Given the description of an element on the screen output the (x, y) to click on. 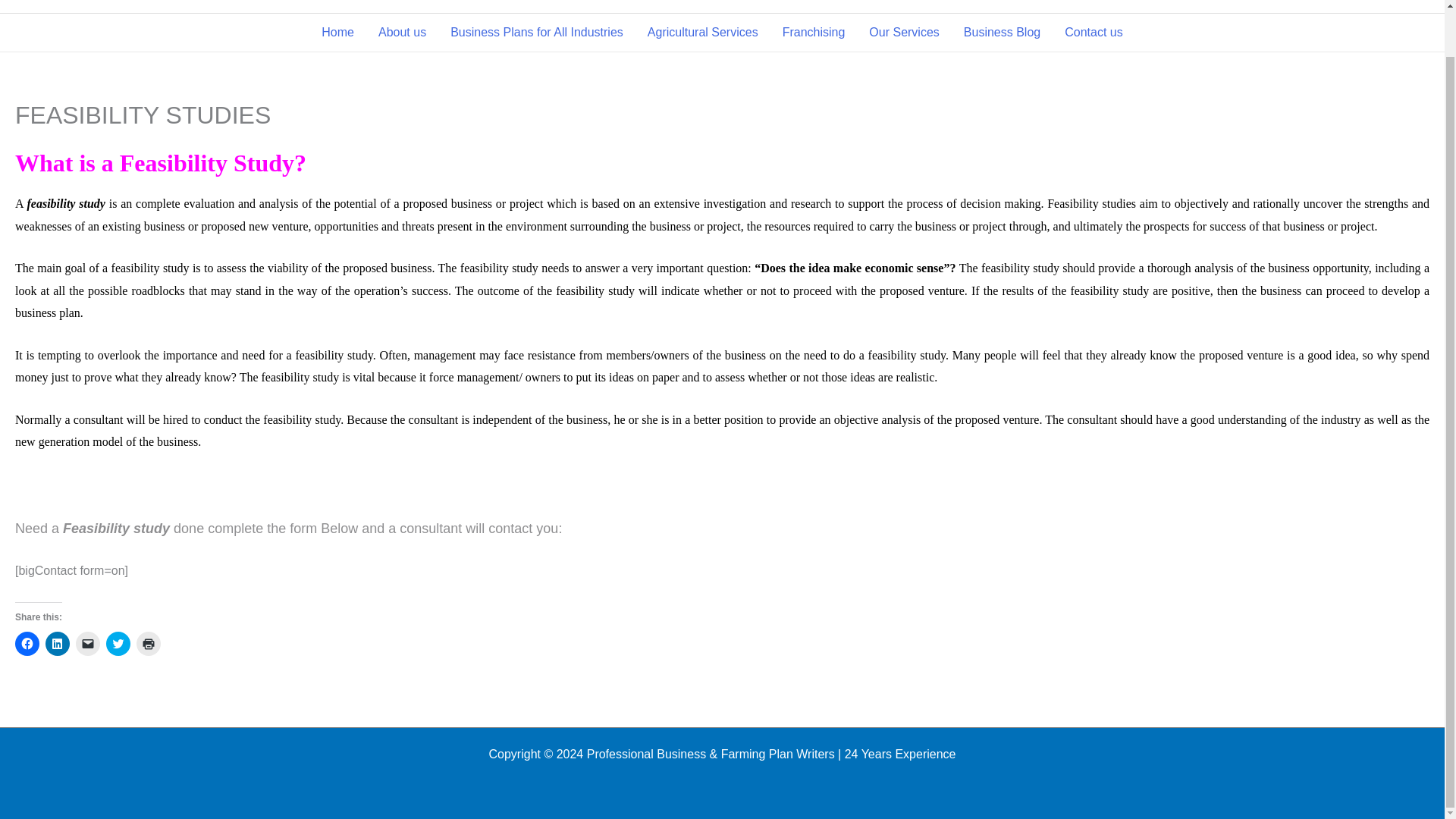
Click to print (148, 643)
Contact us (1093, 32)
Click to share on Twitter (118, 643)
Click to share on LinkedIn (57, 643)
Franchising (813, 32)
Home (337, 32)
Our Services (903, 32)
Click to share on Facebook (26, 643)
Business Blog (1002, 32)
Click to email a link to a friend (87, 643)
